Given the description of an element on the screen output the (x, y) to click on. 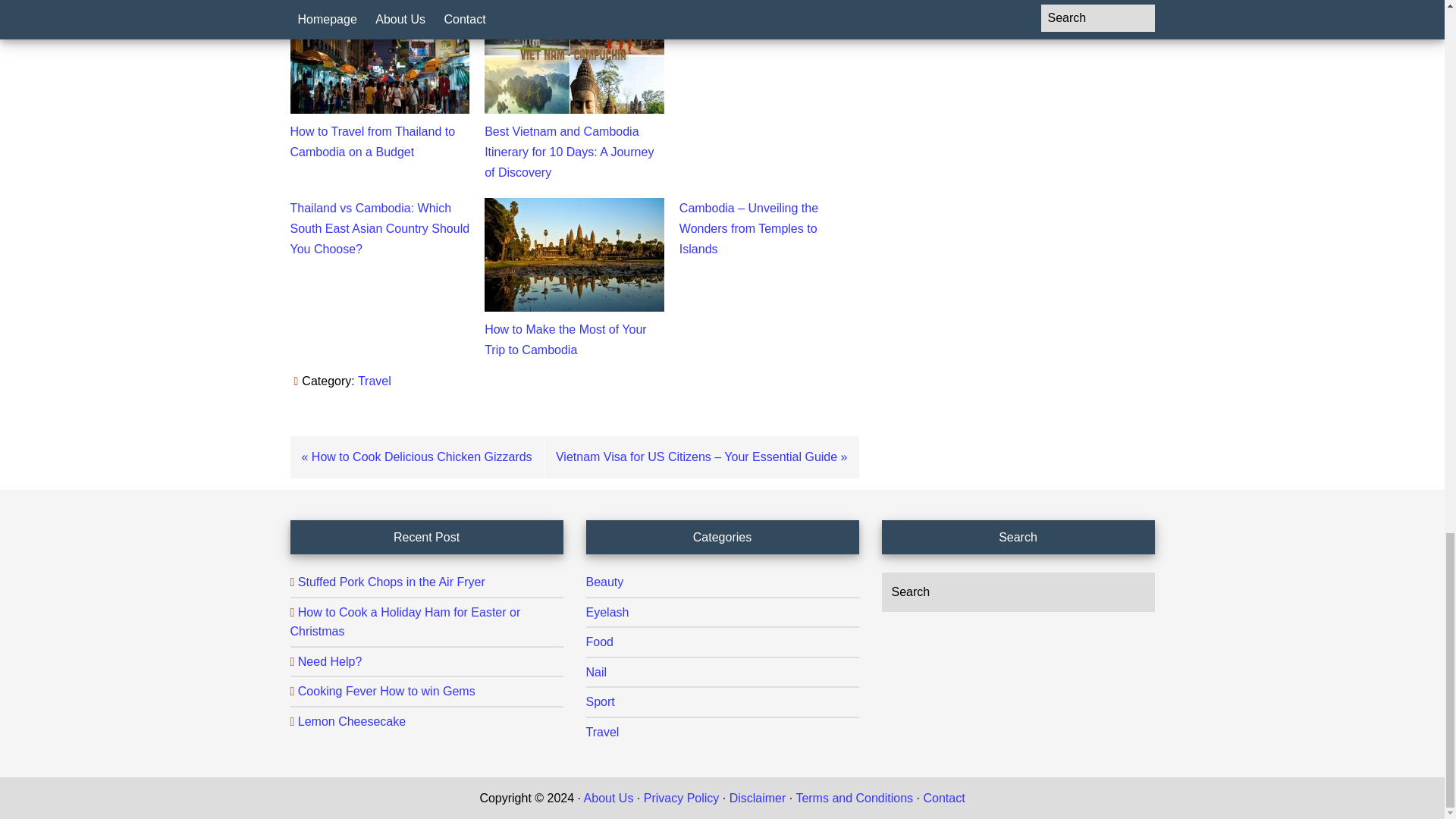
Travel (374, 380)
How to Make the Most of Your Trip to Cambodia (565, 339)
Cambodia: A Fascinating Journey Through History (746, 20)
How to Travel from Thailand to Cambodia on a Budget (371, 141)
